Given the description of an element on the screen output the (x, y) to click on. 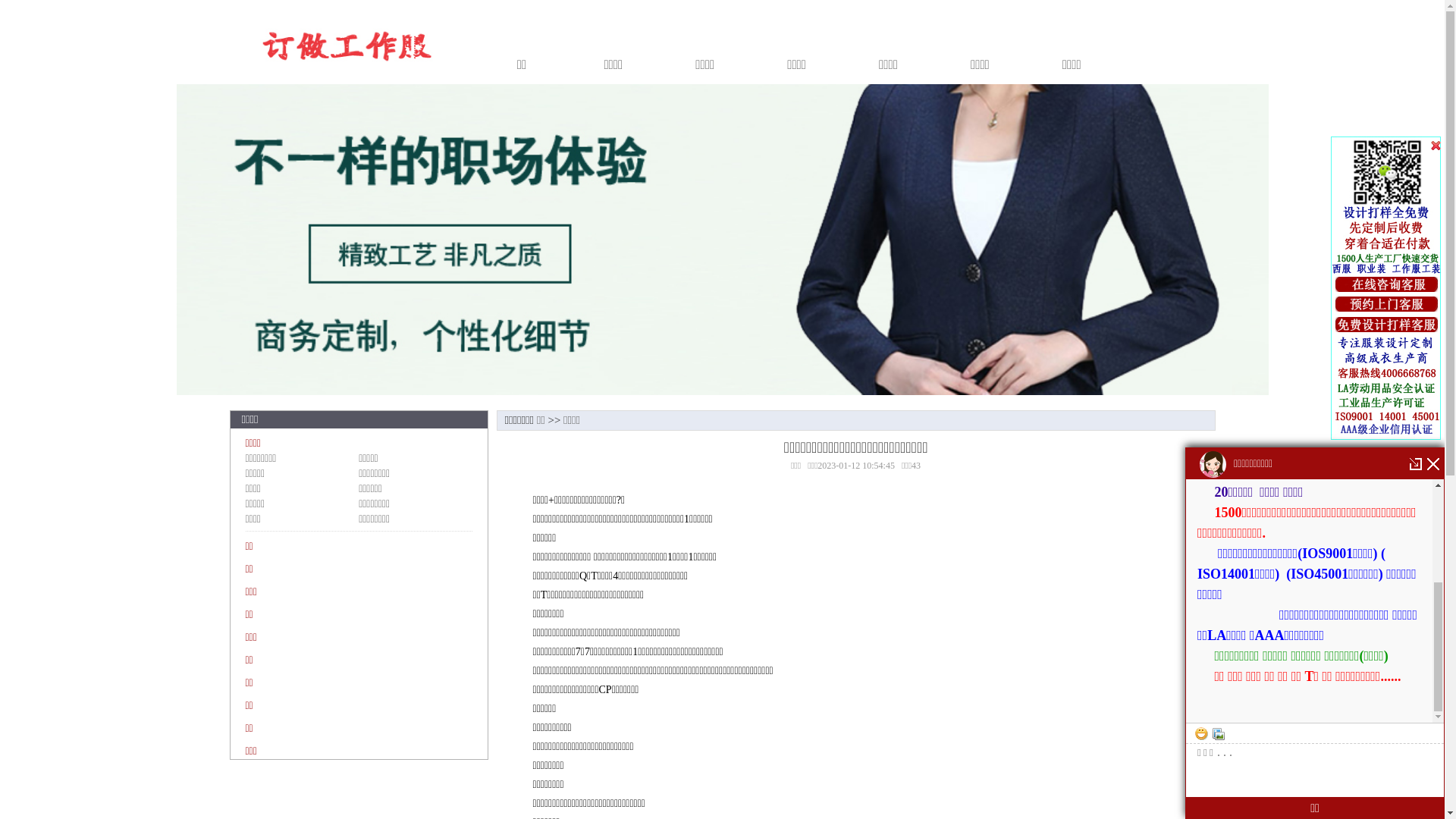
  Element type: text (1386, 283)
  Element type: text (1386, 324)
  Element type: text (1386, 303)
  Element type: text (1387, 287)
